Given the description of an element on the screen output the (x, y) to click on. 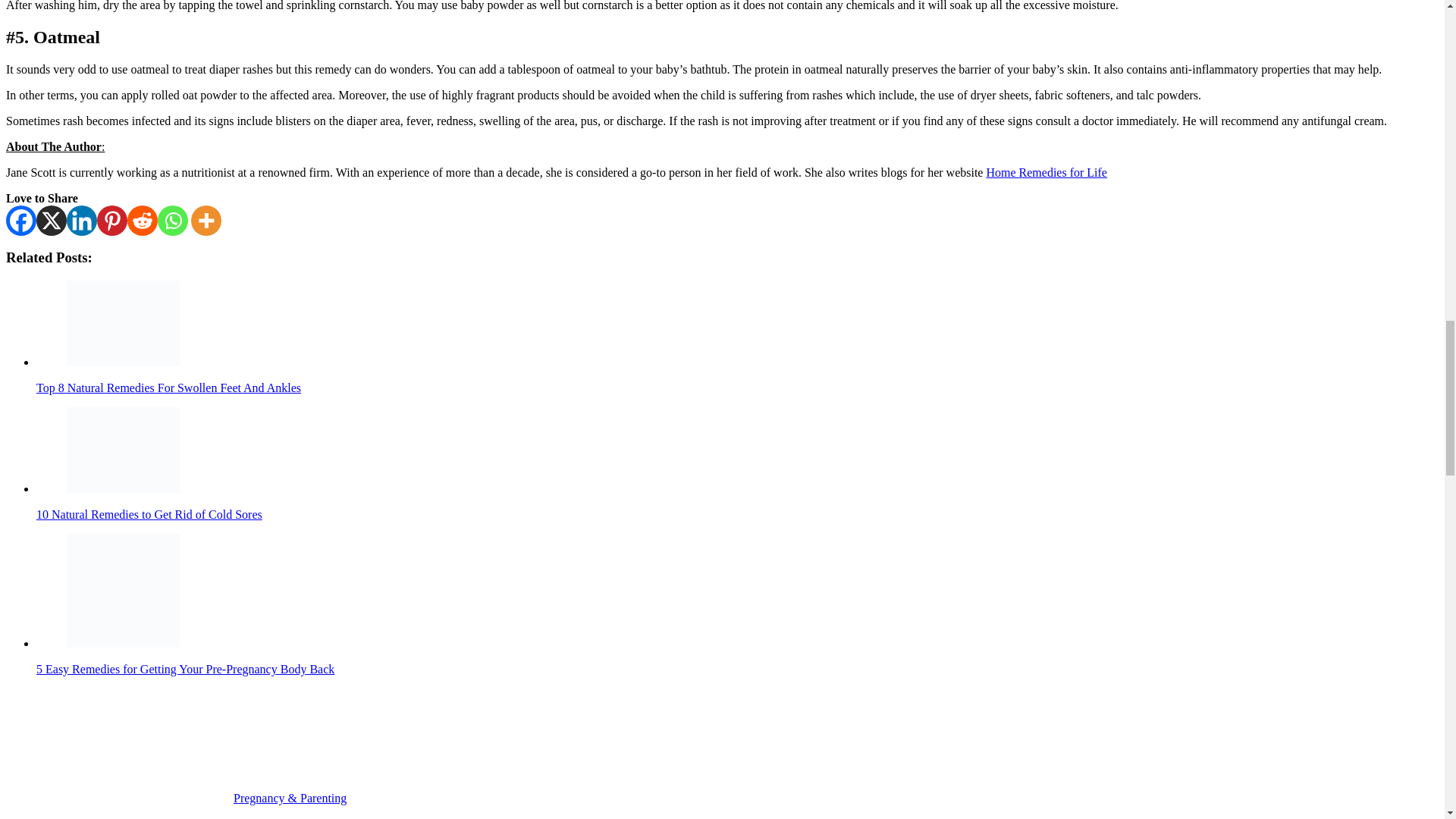
More (205, 220)
Linkedin (81, 220)
10 Natural Remedies to Get Rid of Cold Sores (123, 450)
5 Easy Remedies for Getting Your Pre-Pregnancy Body Back (123, 590)
X (51, 220)
Home Remedies for Life (1045, 172)
Pinterest (112, 220)
Whatsapp (172, 220)
Facebook (20, 220)
Top 8 Natural Remedies For Swollen Feet And Ankles (123, 323)
Reddit (142, 220)
